Given the description of an element on the screen output the (x, y) to click on. 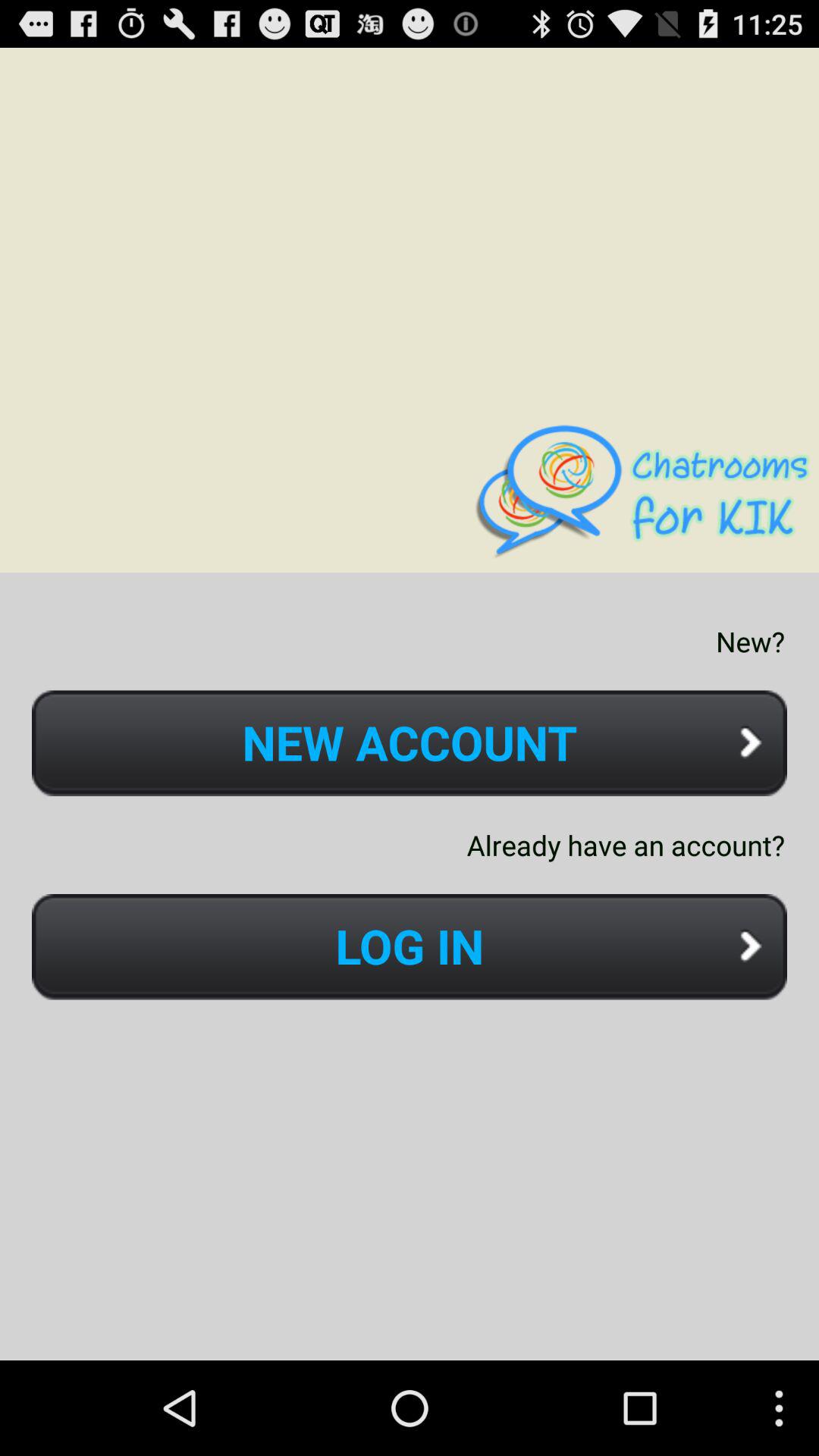
press the icon below already have an icon (409, 946)
